Given the description of an element on the screen output the (x, y) to click on. 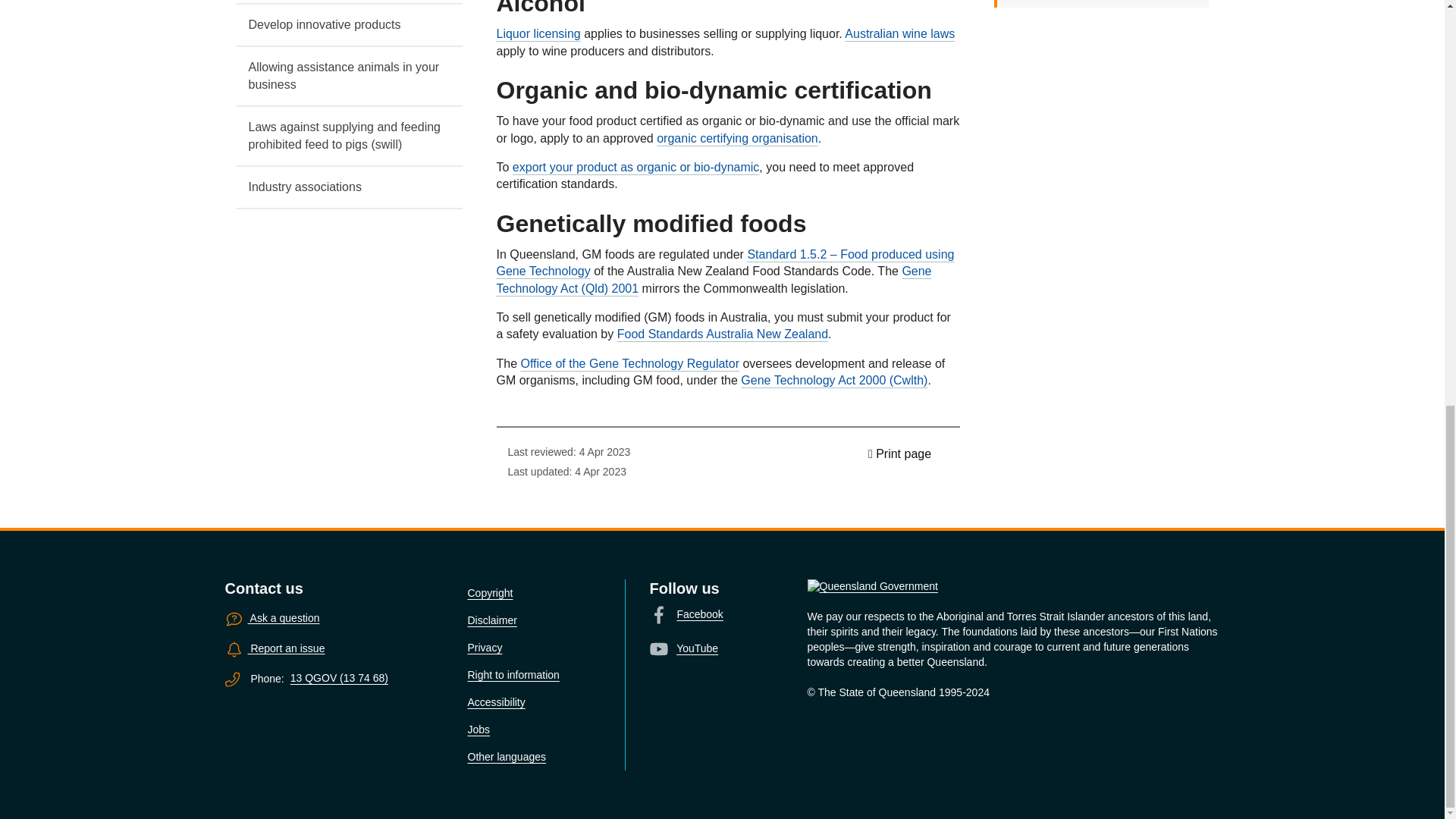
Youtube icon (657, 648)
Facebook icon (657, 615)
